Given the description of an element on the screen output the (x, y) to click on. 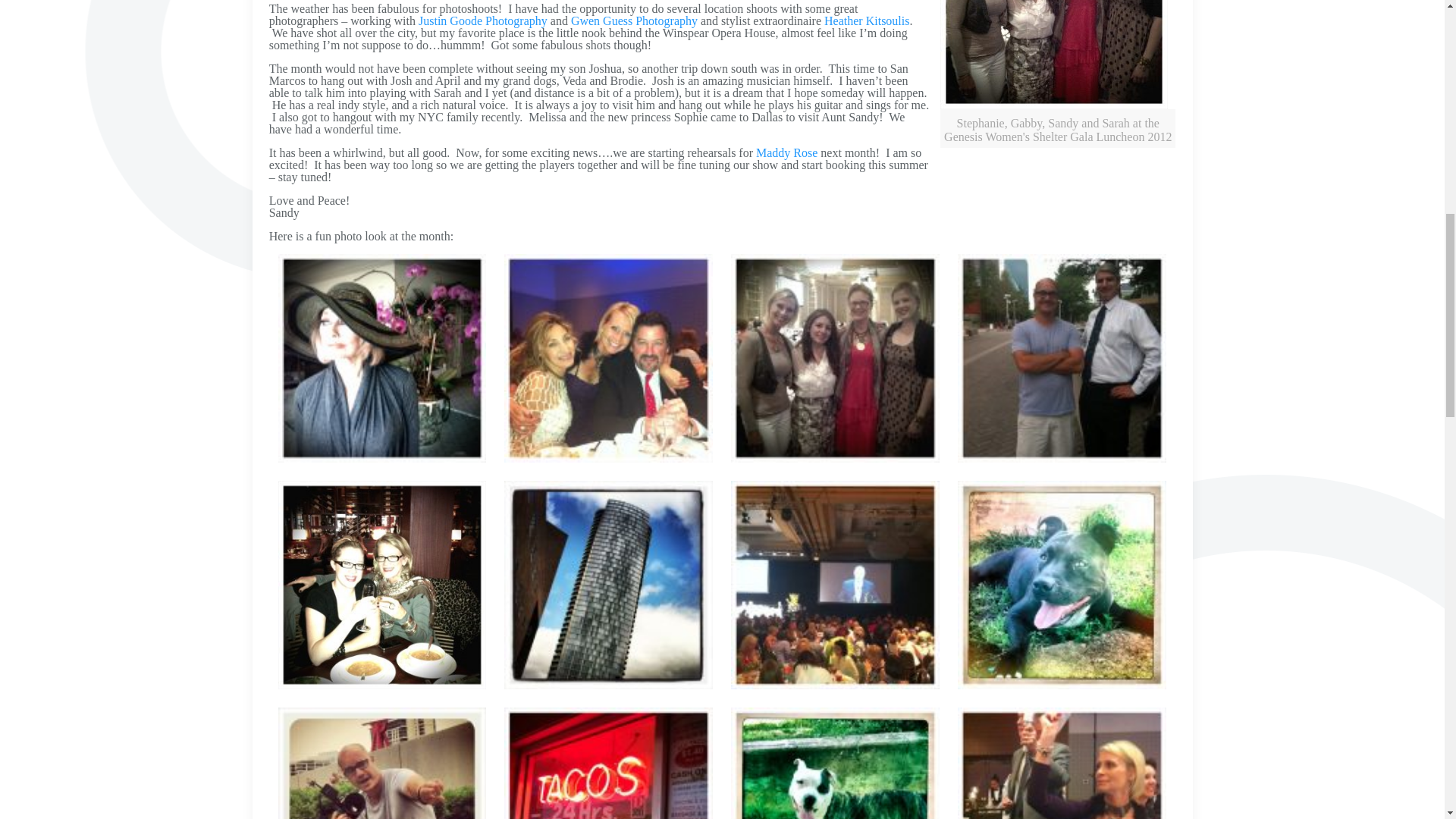
Gwen Guess Photography (633, 20)
GenesisEvent (1053, 54)
Maddy Rose (785, 152)
Heather Kitsoulis (864, 20)
Justin Goode Photography (484, 20)
